Given the description of an element on the screen output the (x, y) to click on. 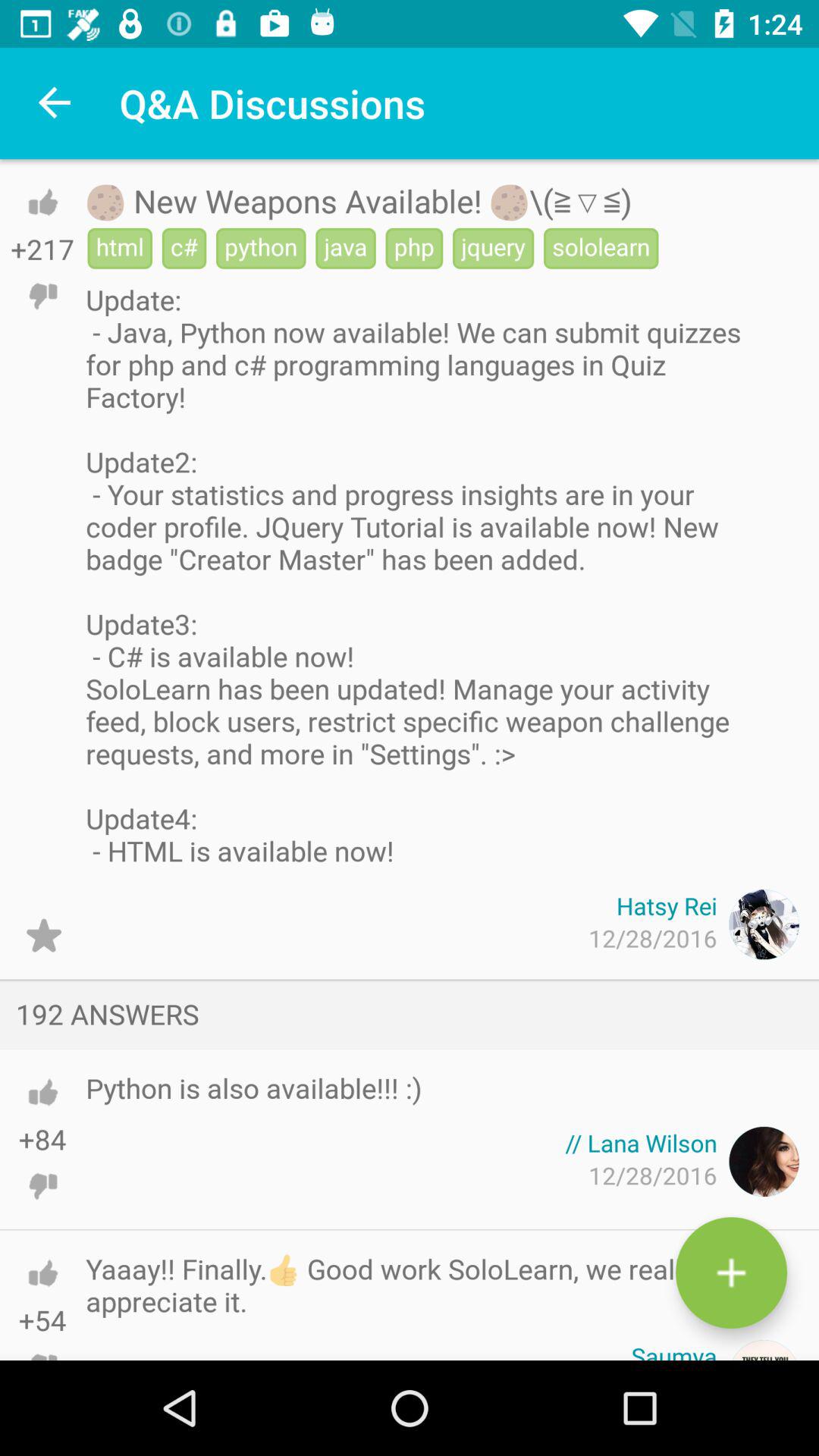
toggle upvote (42, 1273)
